Given the description of an element on the screen output the (x, y) to click on. 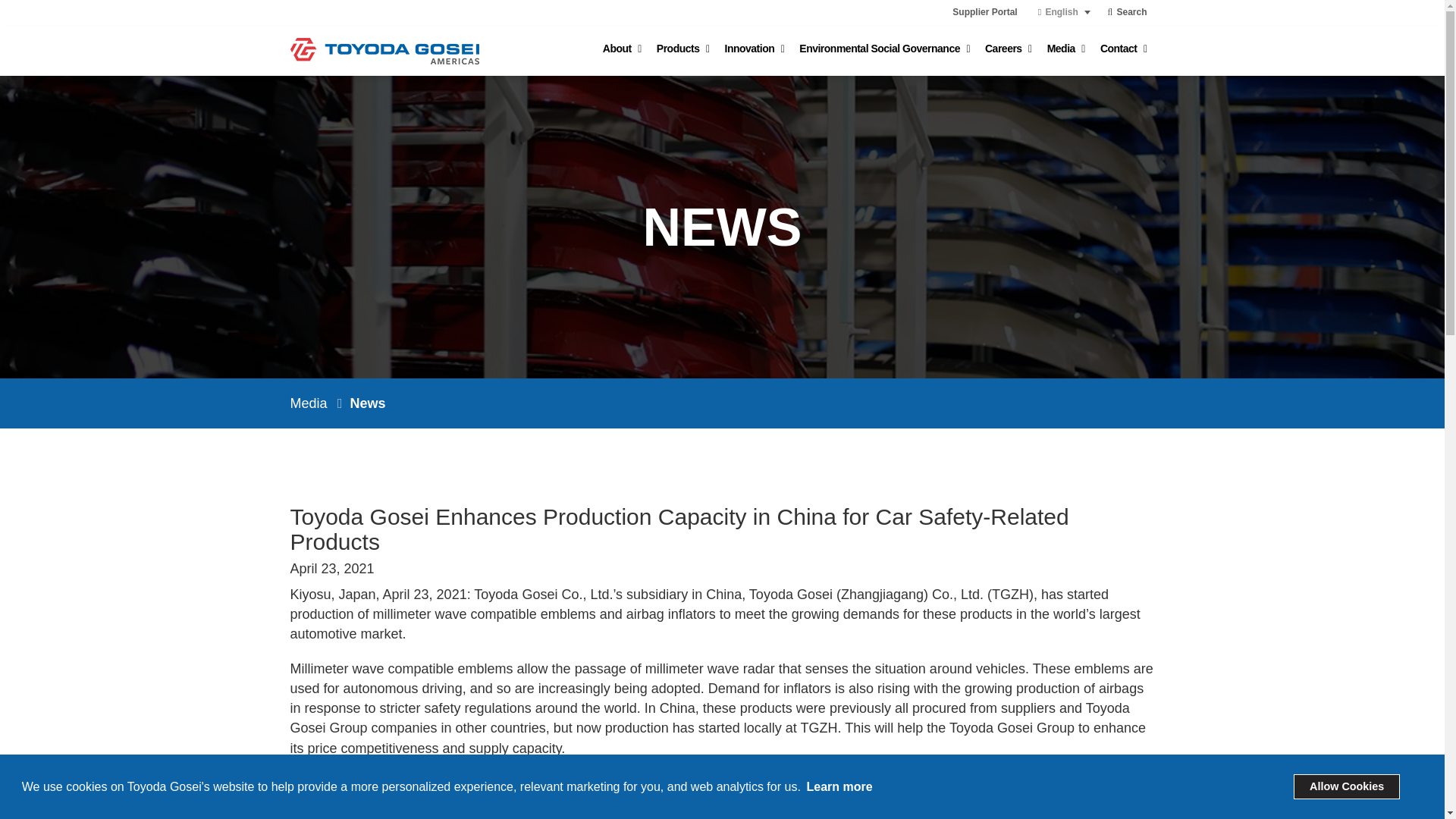
Environmental Social Governance (884, 49)
About (622, 49)
Innovation (754, 49)
Careers (1007, 49)
Home (384, 49)
Supplier Portal (986, 11)
Site Search (1126, 11)
Products (683, 49)
Learn more (839, 786)
Search (1126, 11)
Media (1066, 49)
Allow Cookies (1346, 786)
